Given the description of an element on the screen output the (x, y) to click on. 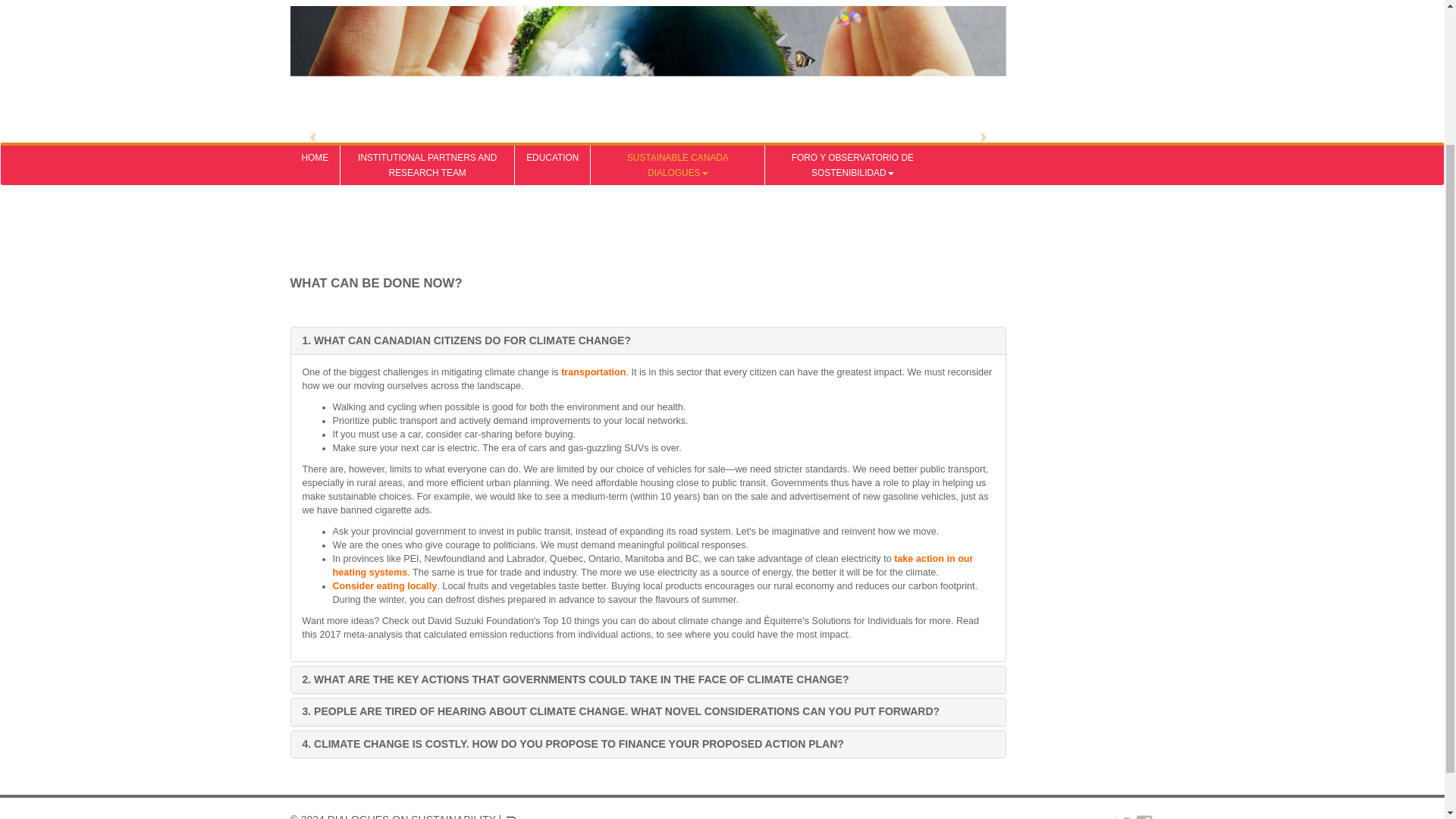
2017 meta-analysis (361, 634)
SUSTAINABLE CANADA DIALOGUES (677, 5)
1. WHAT CAN CANADIAN CITIZENS DO FOR CLIMATE CHANGE? (465, 340)
FORO Y OBSERVATORIO DE SOSTENIBILIDAD (852, 5)
Top 10 things you can do about climate change (642, 620)
HOME (314, 5)
INSTITUTIONAL PARTNERS AND RESEARCH TEAM (426, 5)
